Given the description of an element on the screen output the (x, y) to click on. 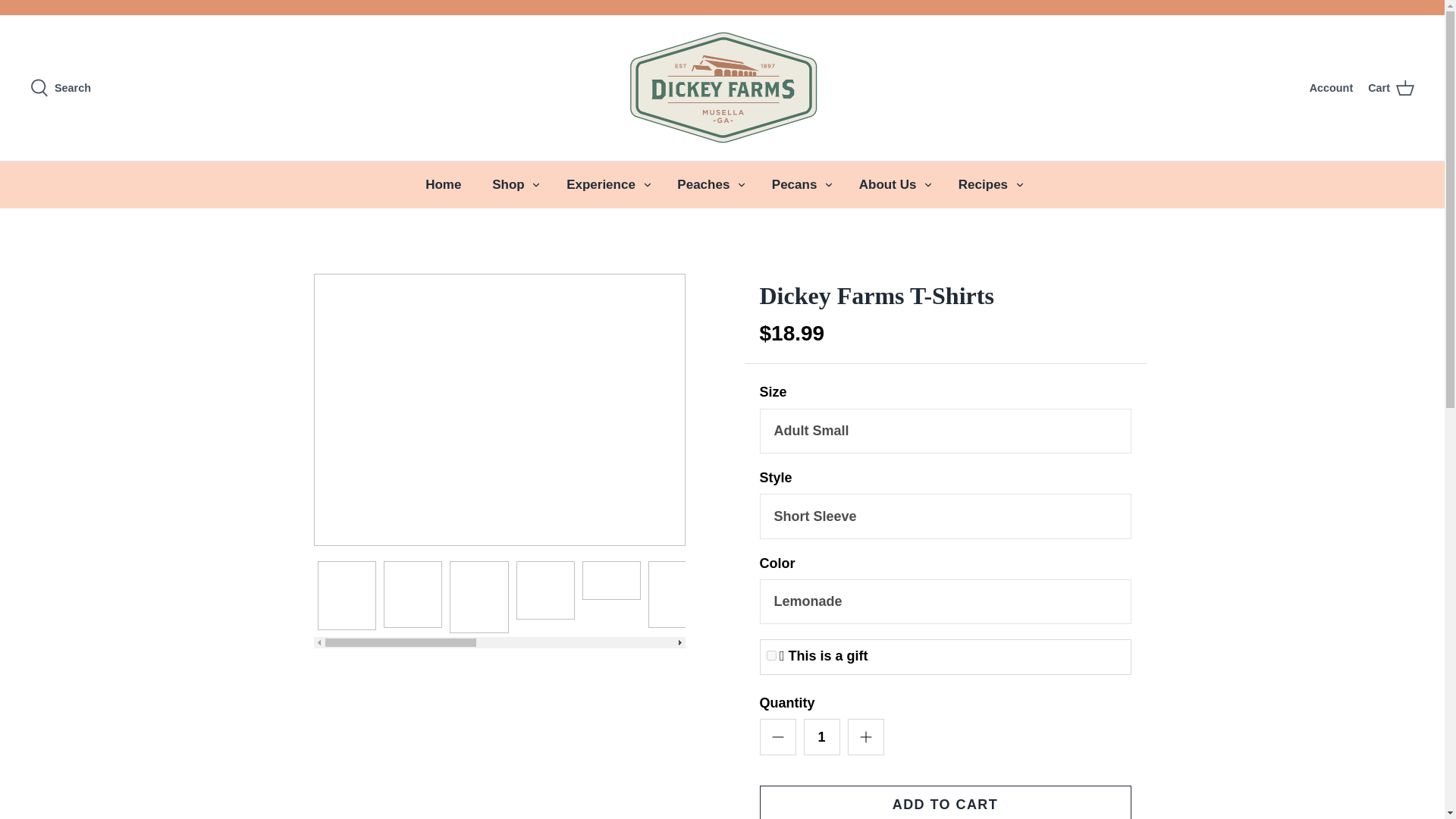
About Us (887, 184)
Toggle menu (741, 184)
Home (443, 184)
Dickey Farms (722, 87)
Toggle menu (1019, 184)
yes (770, 655)
Account (1331, 87)
Plus (866, 737)
Search (60, 87)
Shop (508, 184)
